Given the description of an element on the screen output the (x, y) to click on. 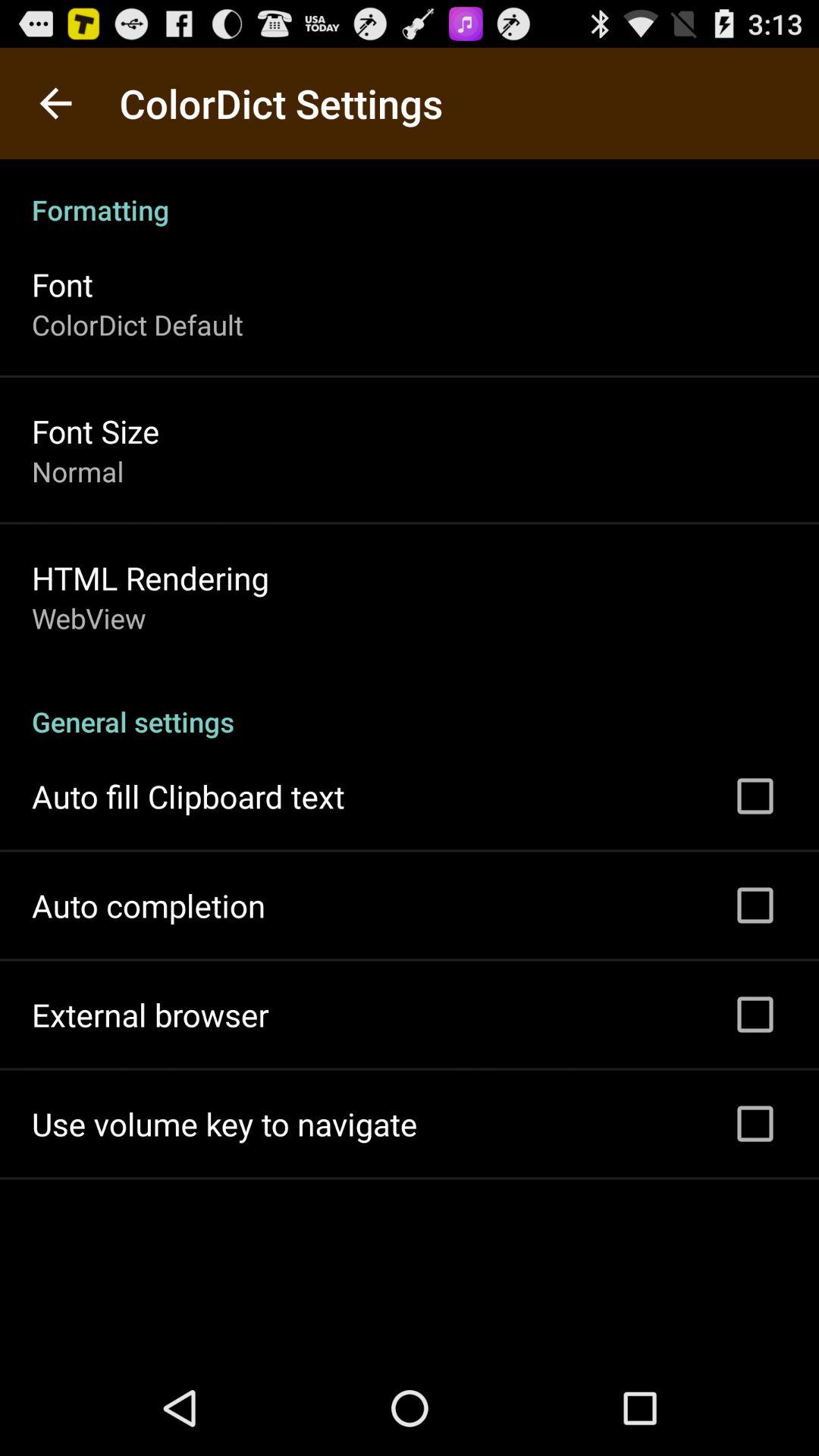
choose colordict default app (137, 324)
